Given the description of an element on the screen output the (x, y) to click on. 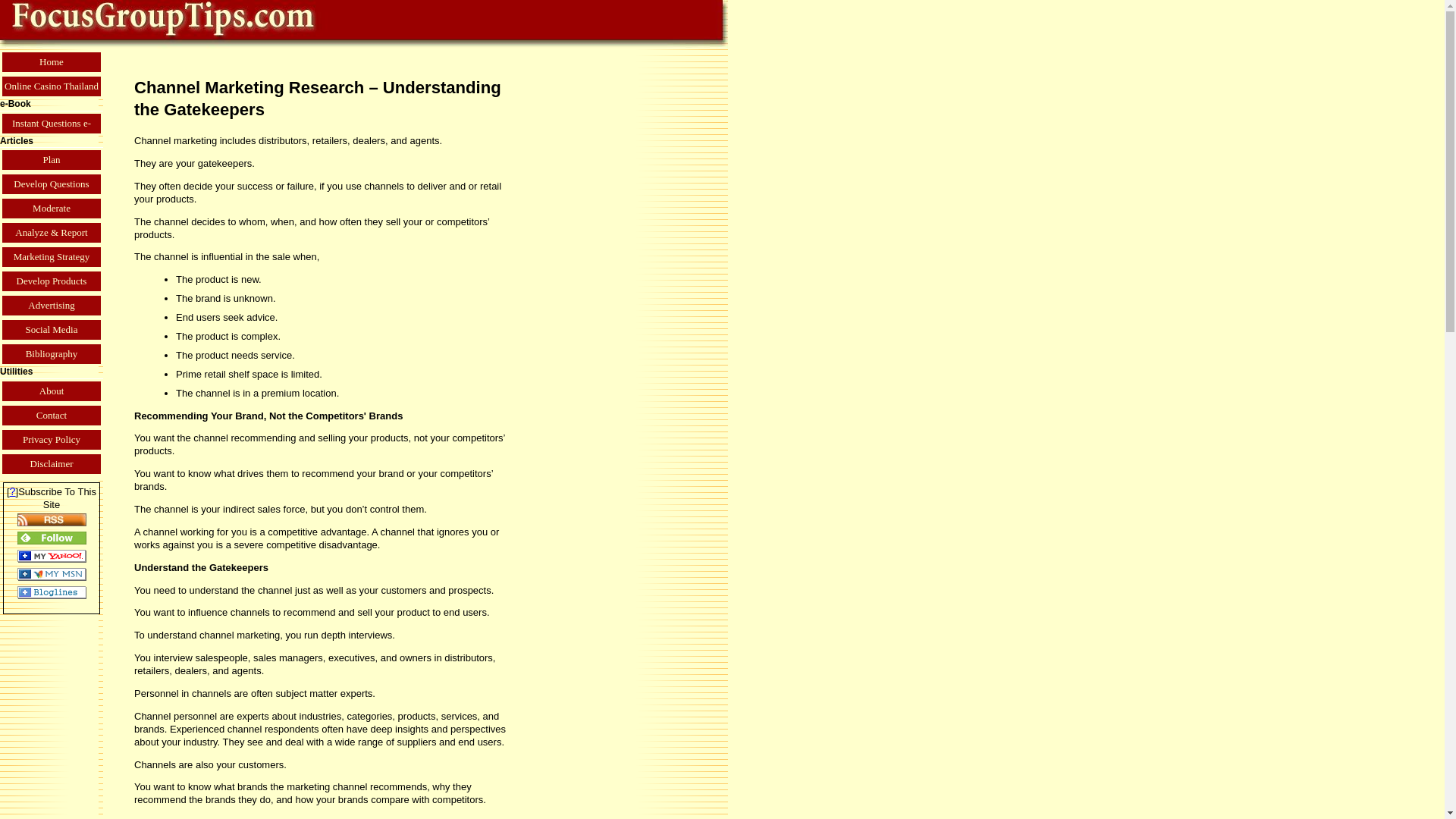
Privacy Policy (51, 439)
Home (51, 61)
Online Casino Thailand (51, 86)
Disclaimer (51, 463)
Bibliography (51, 354)
Marketing Strategy (51, 256)
Develop Products (51, 281)
Develop Questions (51, 183)
About (51, 391)
Advertising (51, 305)
